Given the description of an element on the screen output the (x, y) to click on. 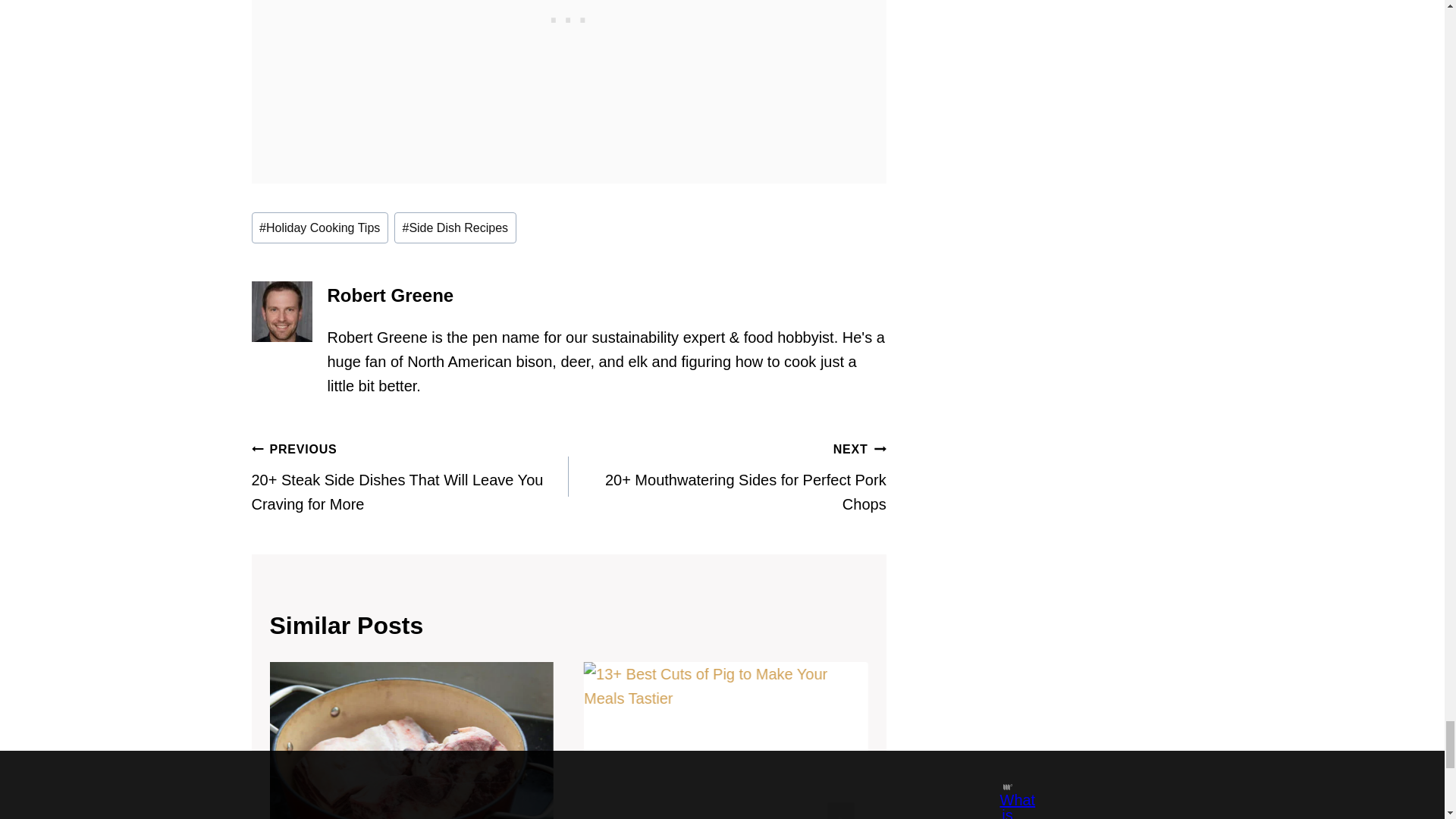
Side Dish Recipes (455, 227)
Holiday Cooking Tips (319, 227)
